Given the description of an element on the screen output the (x, y) to click on. 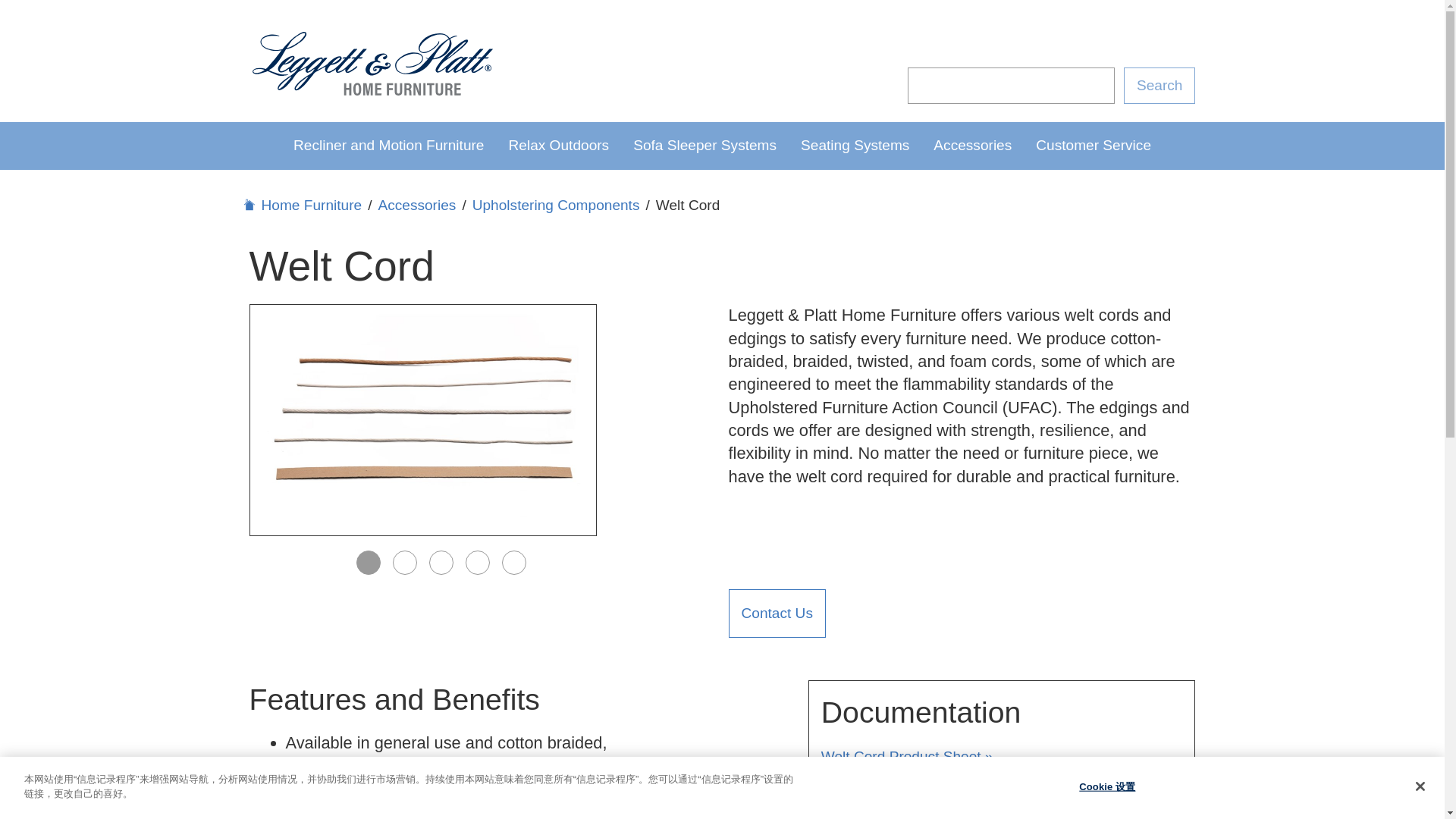
Search (1159, 85)
Upholstering Components (555, 204)
Customer Service (1093, 145)
Seating Systems (855, 145)
Accessories (416, 204)
Sofa Sleeper Systems (705, 145)
Recliner and Motion Furniture (388, 145)
Home Furniture (305, 204)
Relax Outdoors (558, 145)
Accessories (972, 145)
